Given the description of an element on the screen output the (x, y) to click on. 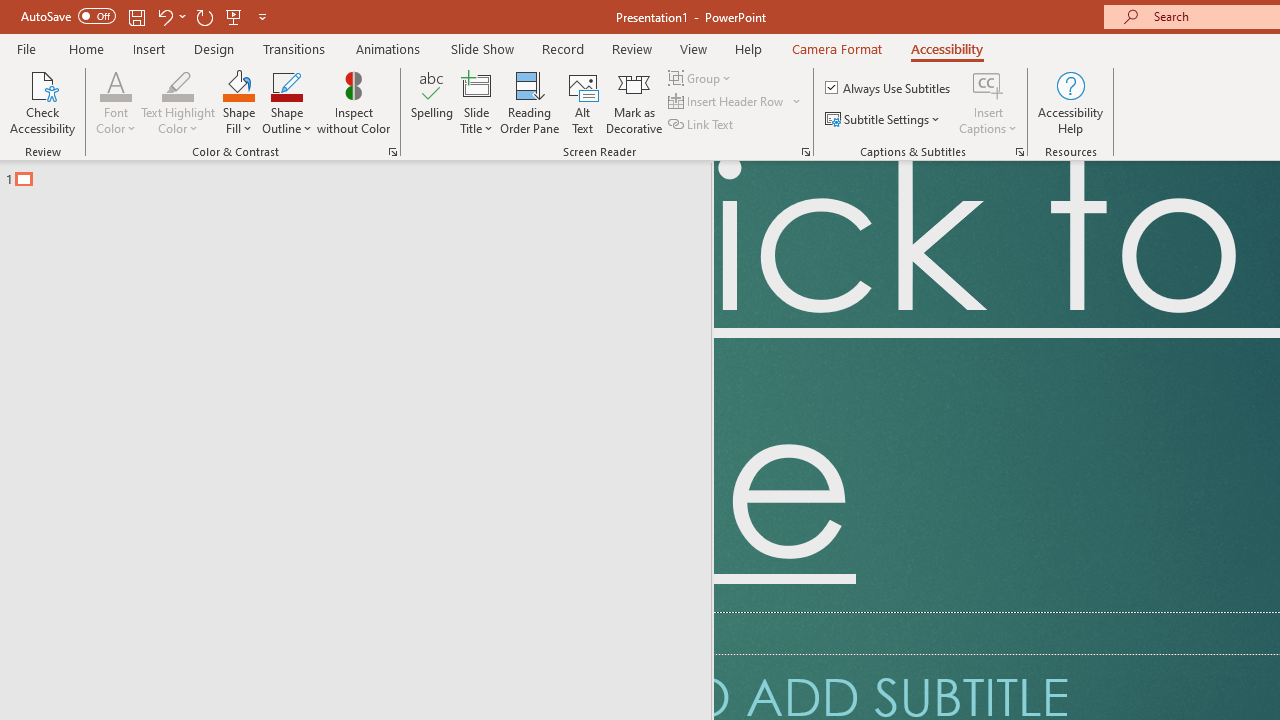
Color & Contrast (392, 151)
Insert Header Row (727, 101)
Slide Title (476, 84)
Mark as Decorative (634, 102)
Shape Outline Blue, Accent 1 (286, 84)
